Given the description of an element on the screen output the (x, y) to click on. 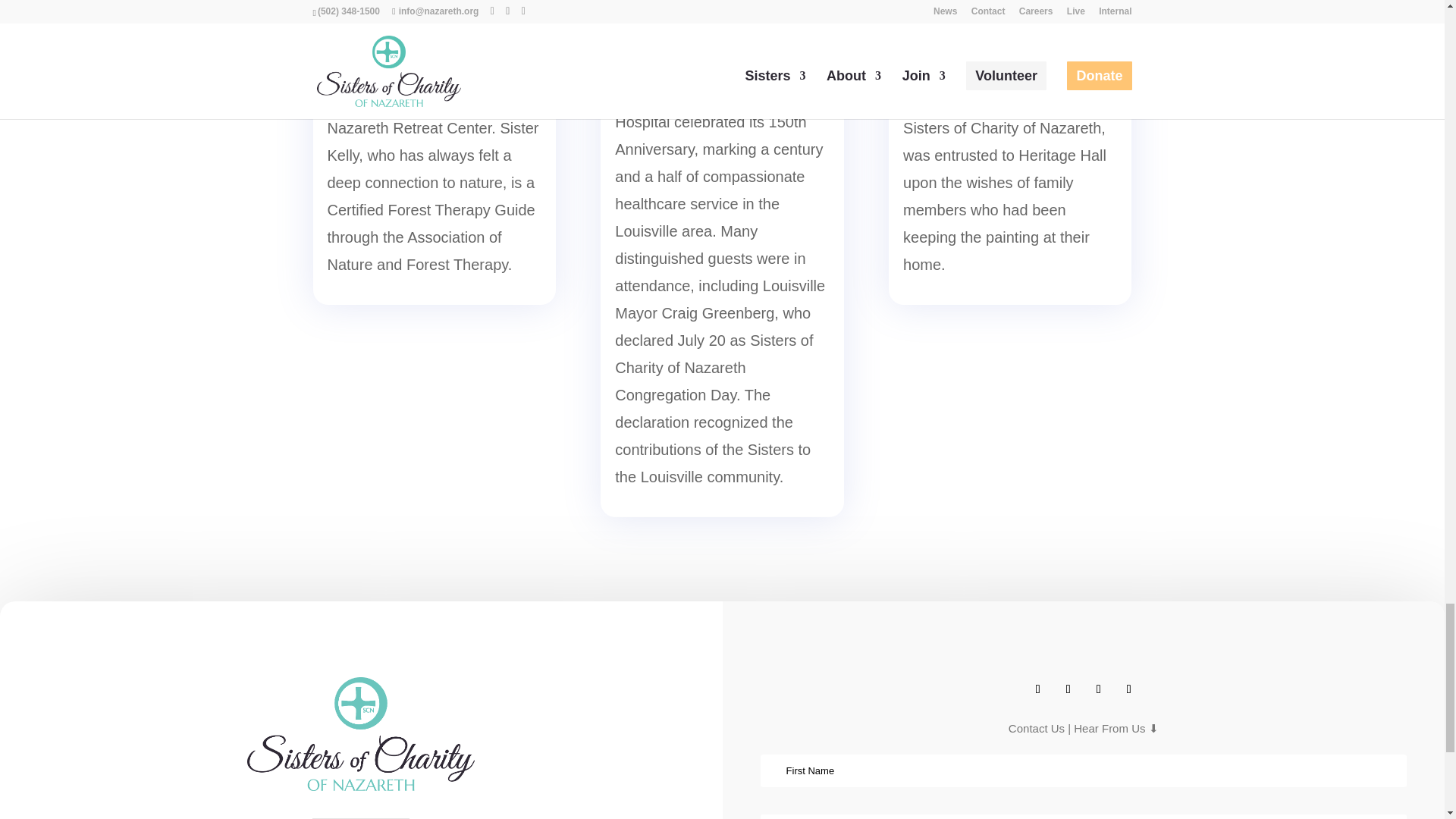
Follow on Youtube (1128, 689)
Follow on Facebook (1037, 689)
Follow on X (1068, 689)
Follow on Instagram (1098, 689)
